Given the description of an element on the screen output the (x, y) to click on. 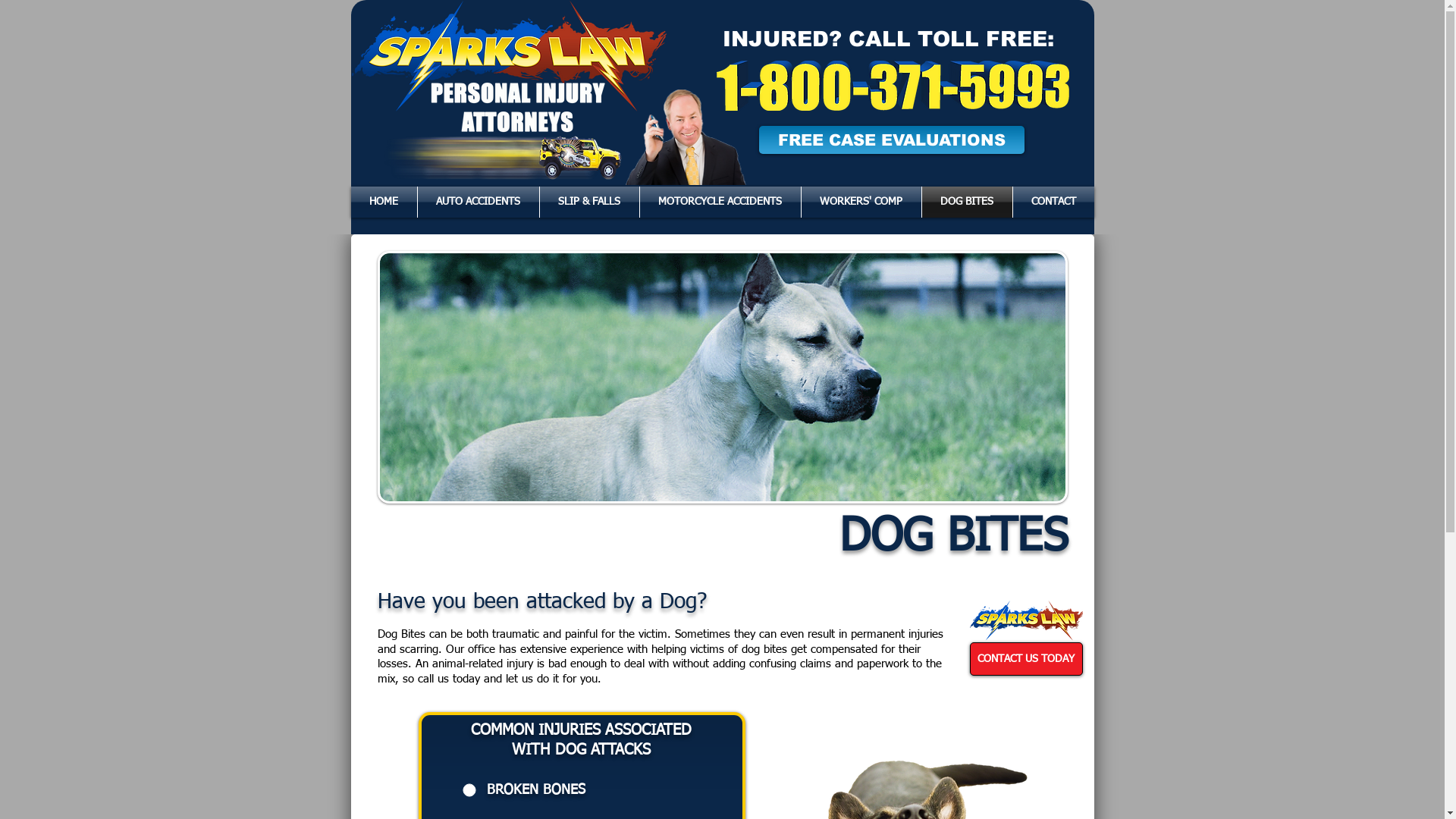
MOTORCYCLE ACCIDENTS Element type: text (720, 201)
DOG BITES Element type: text (967, 201)
AUTO ACCIDENTS Element type: text (477, 201)
CONTACT US TODAY Element type: text (1025, 658)
Thomas E. Sparks Law Element type: hover (684, 137)
WORKERS' COMP Element type: text (860, 201)
Thomas E. Sparks Accident Attorney Logo RI Element type: hover (1025, 620)
Sparks Law Dog Bite Injury Lawyer RI Element type: hover (722, 377)
CONTACT Element type: text (1053, 201)
Thomas E. Sparks Law  Element type: hover (494, 157)
HOME Element type: text (383, 201)
FREE CASE EVALUATIONS Element type: text (890, 139)
SLIP & FALLS Element type: text (589, 201)
